Given the description of an element on the screen output the (x, y) to click on. 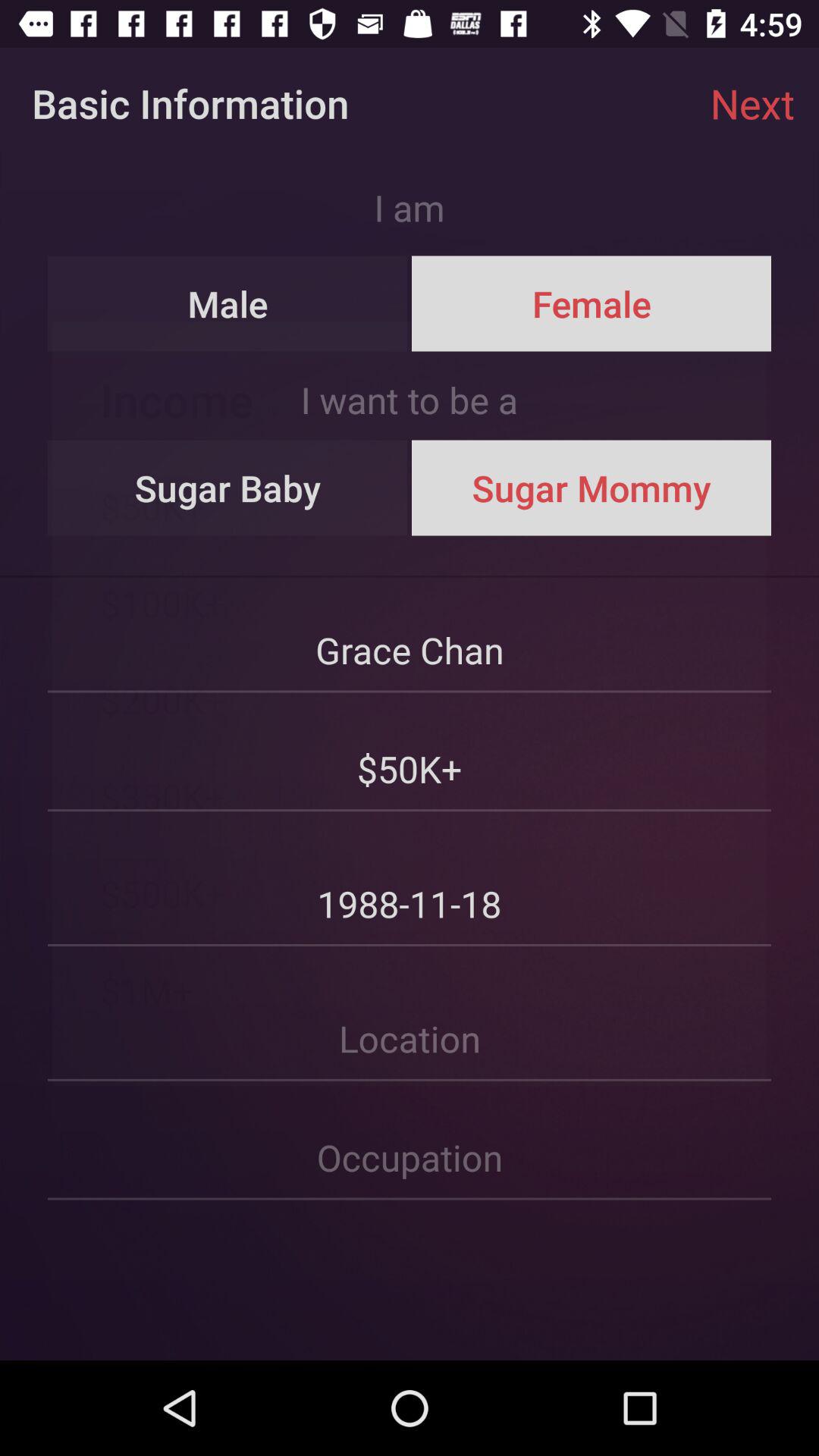
click the option grace chan (409, 634)
click the date above location (409, 879)
select the text next to the sugar baby (591, 488)
click the text below the grace chan (409, 753)
select female (591, 304)
select occupation (409, 1141)
